Given the description of an element on the screen output the (x, y) to click on. 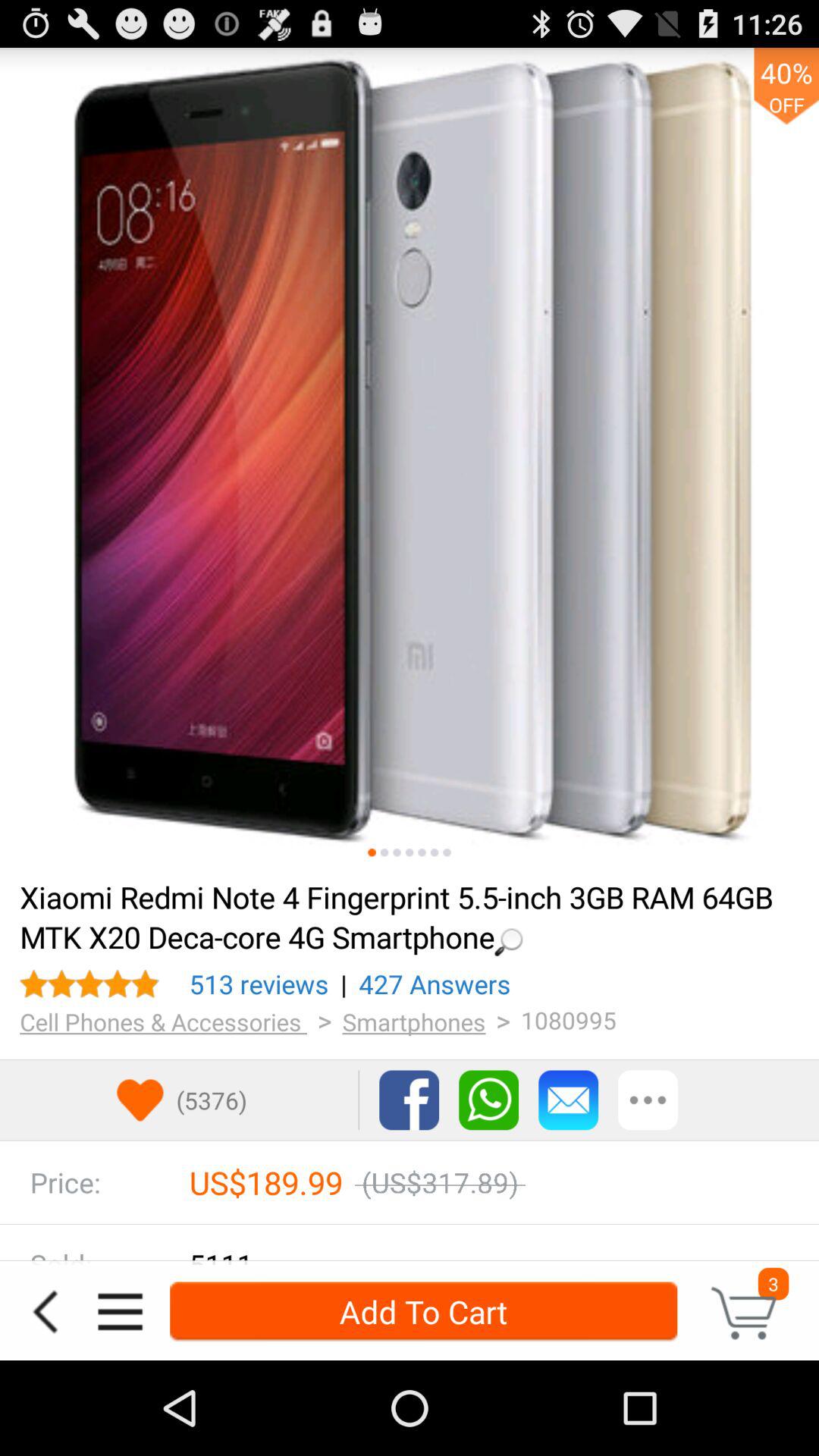
tap the item above > app (258, 983)
